Given the description of an element on the screen output the (x, y) to click on. 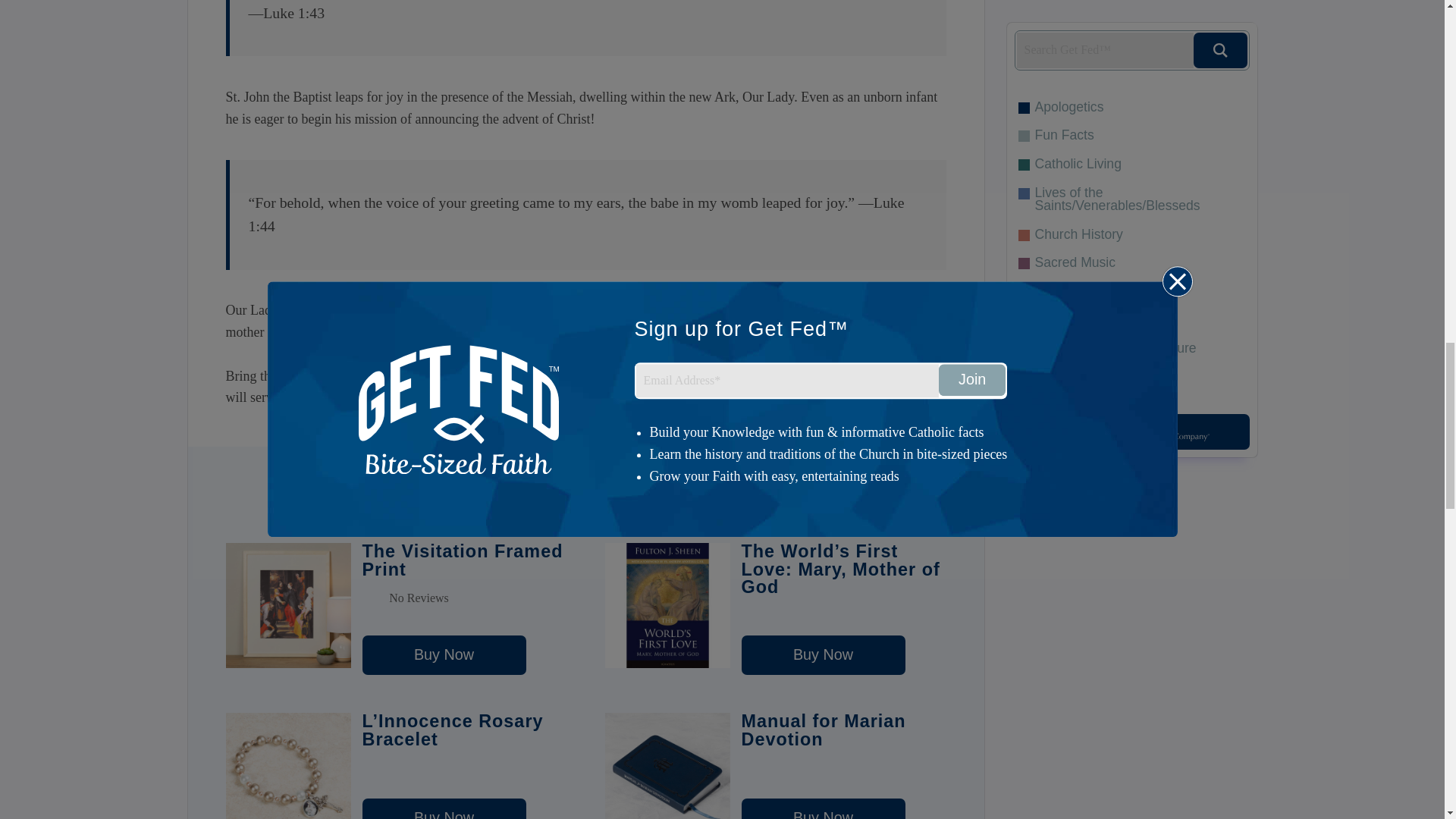
Rating of this product is 0 out of 5. (464, 598)
Buy Now (443, 654)
Available today from The Catholic Company! (794, 396)
Rating of this product is 4.9 out of 5. (843, 767)
Buy Now (443, 808)
Rating of this product is 4.9 out of 5. (464, 767)
framed print of The Visitation (688, 376)
Manual for Marian Devotion (823, 808)
Rating of this product is 4.6 out of 5. (843, 615)
Buy Now (823, 808)
